Given the description of an element on the screen output the (x, y) to click on. 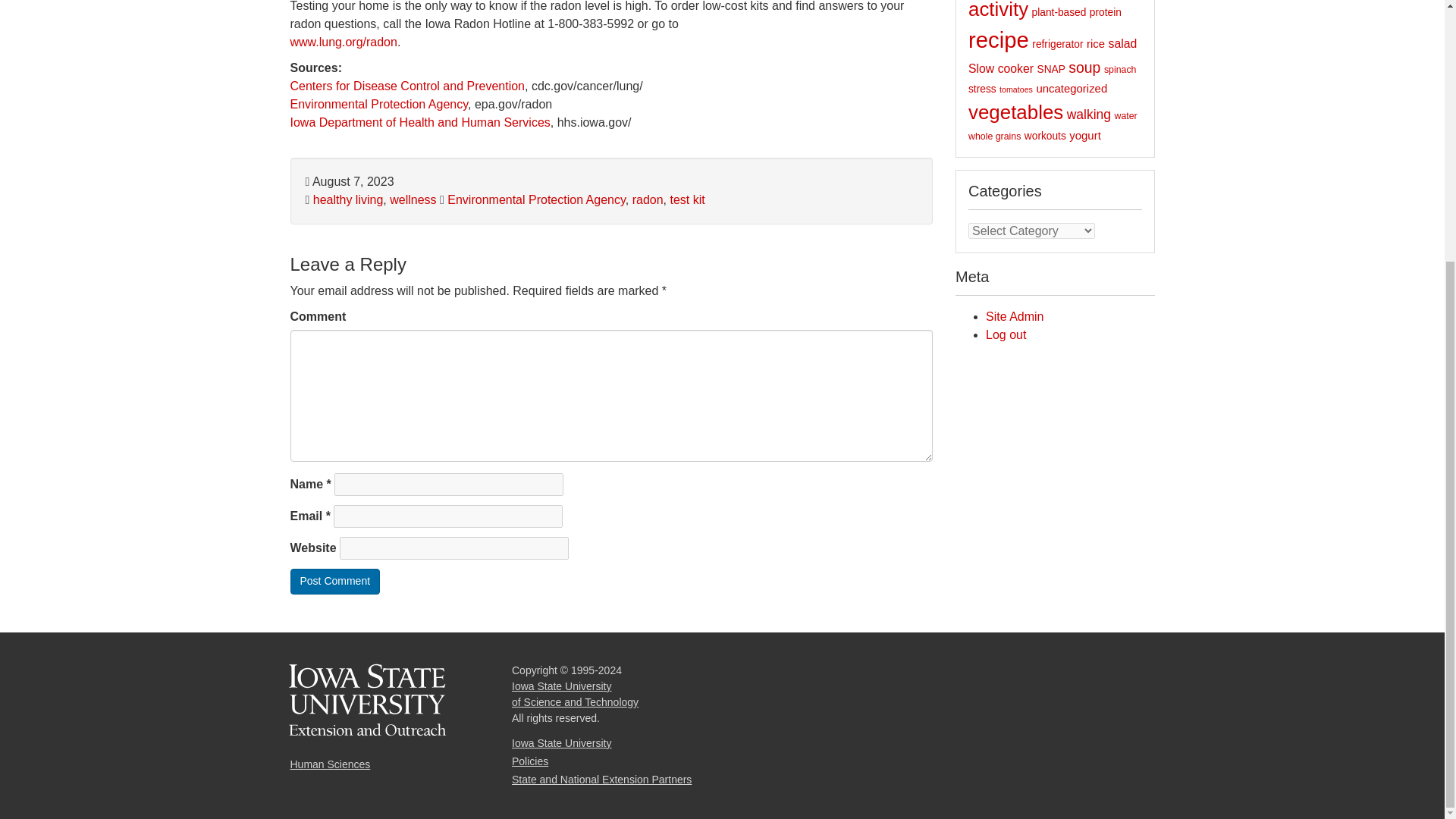
Last Updated (348, 181)
Post Comment (334, 581)
